Given the description of an element on the screen output the (x, y) to click on. 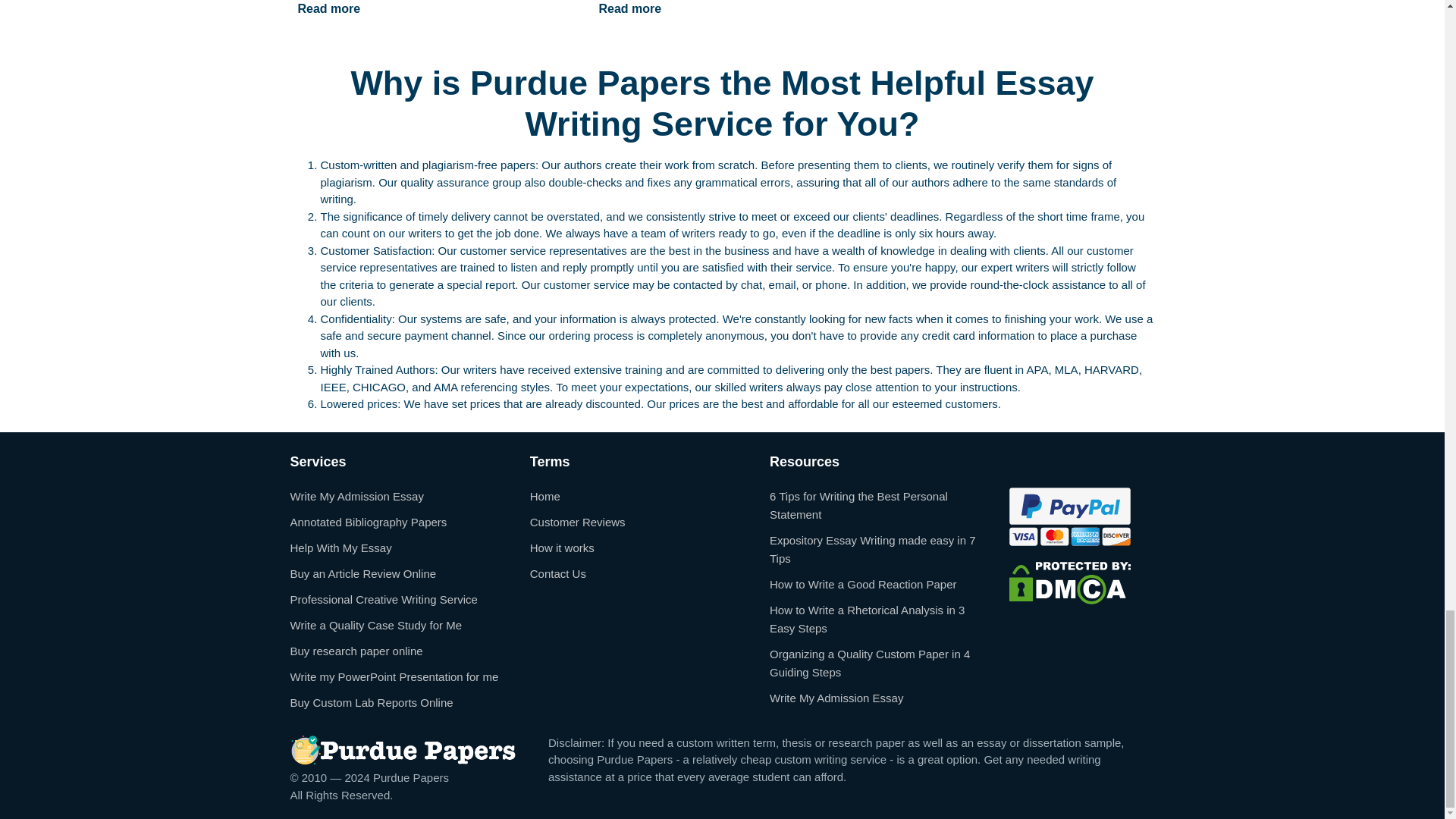
Write My Admission Essay (356, 495)
Help With My Essay (340, 547)
Read more (629, 12)
Buy an Article Review Online (362, 573)
Annotated Bibliography Papers (367, 521)
Read more (329, 12)
DMCA (1070, 581)
